Given the description of an element on the screen output the (x, y) to click on. 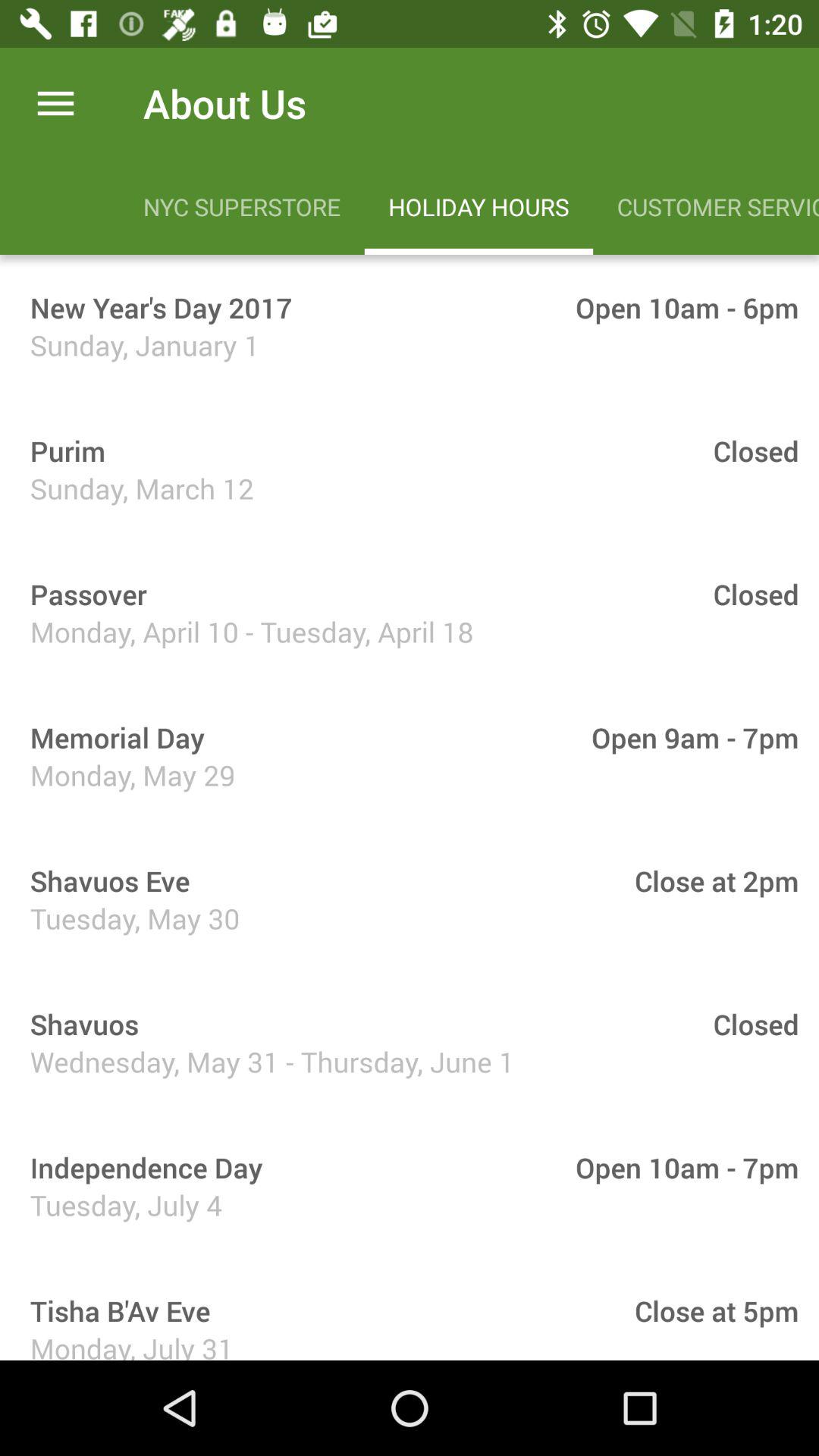
open the item to the left of about us (55, 103)
